Given the description of an element on the screen output the (x, y) to click on. 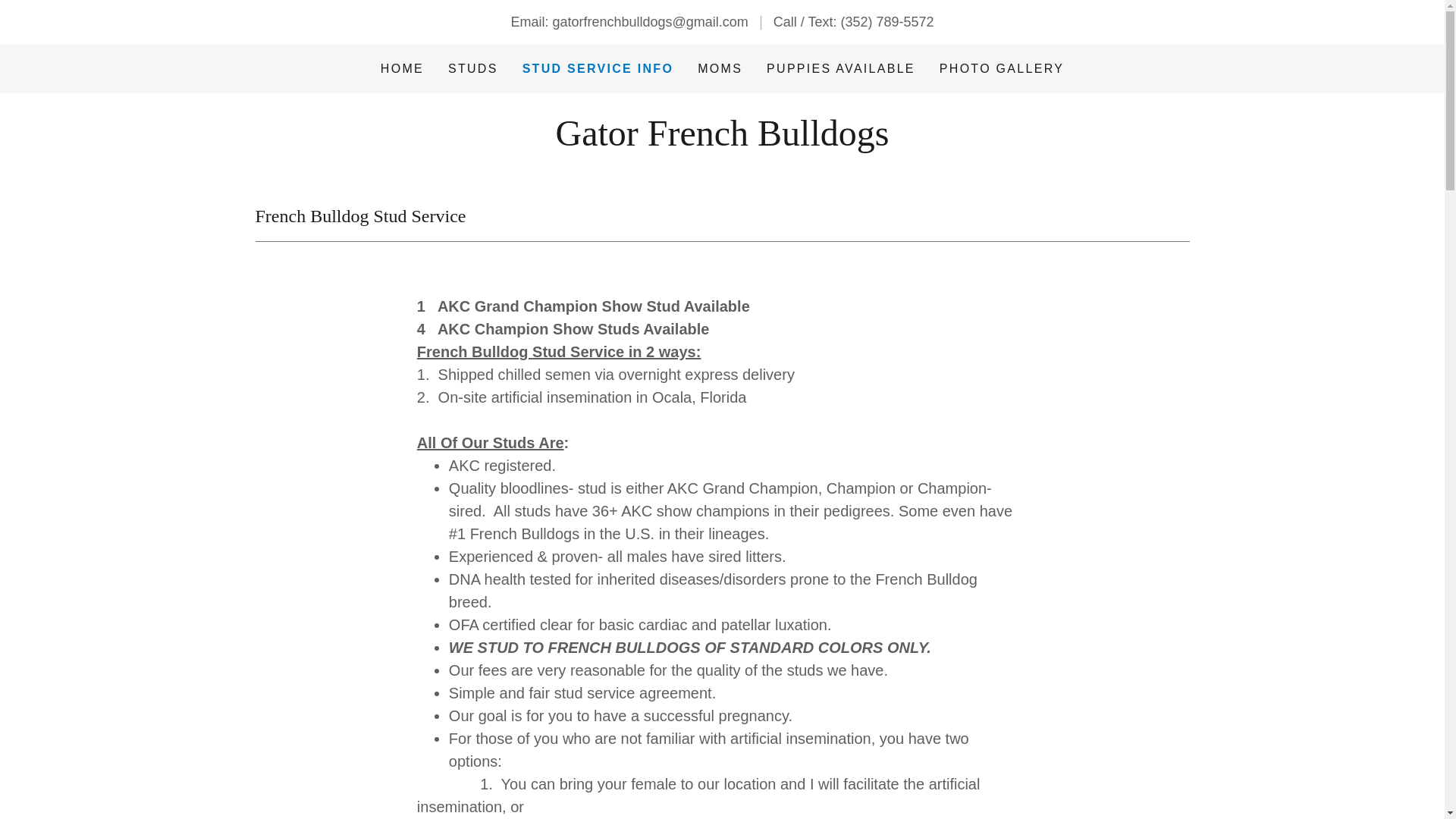
STUDS (473, 68)
PUPPIES AVAILABLE (840, 68)
STUD SERVICE INFO (598, 68)
MOMS (719, 68)
Gator French Bulldogs (722, 140)
PHOTO GALLERY (1001, 68)
HOME (401, 68)
Gator French Bulldogs (722, 140)
